Given the description of an element on the screen output the (x, y) to click on. 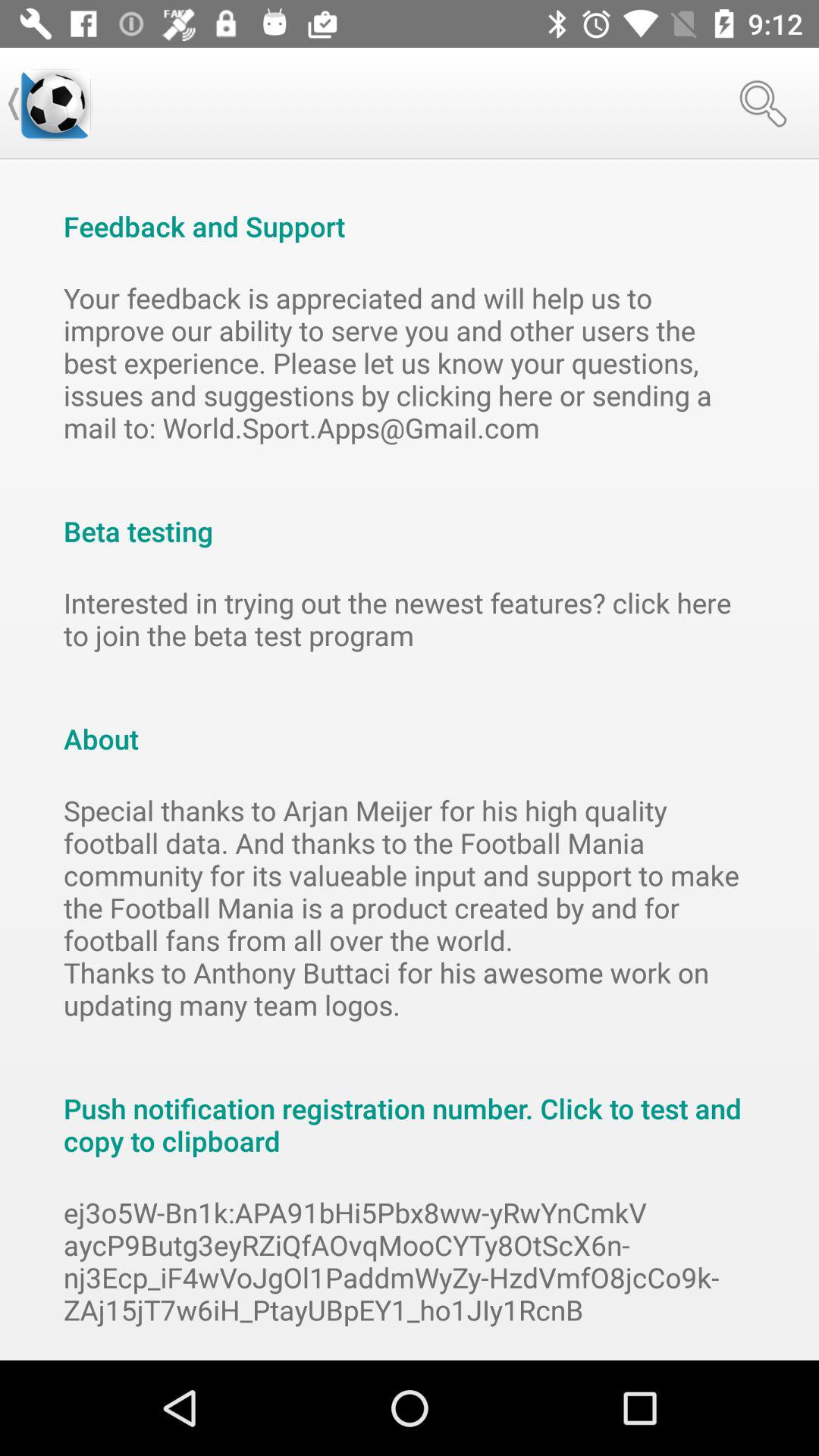
turn off push notification registration icon (409, 1108)
